Given the description of an element on the screen output the (x, y) to click on. 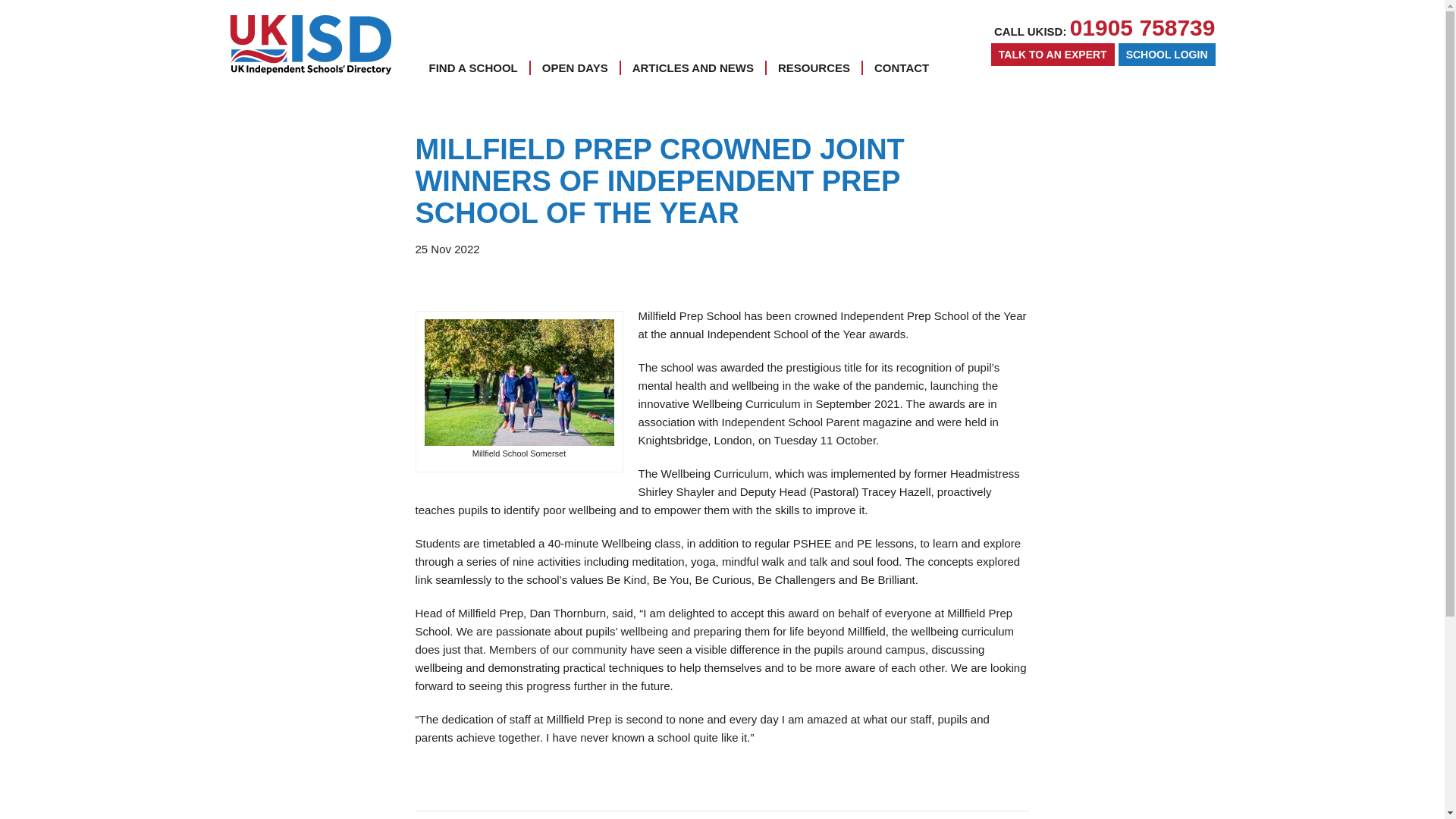
RESOURCES (813, 67)
CONTACT (901, 67)
01905 758739 (1142, 27)
ARTICLES AND NEWS (692, 67)
SCHOOL LOGIN (1166, 54)
TALK TO AN EXPERT (1053, 54)
FIND A SCHOOL (473, 67)
OPEN DAYS (574, 67)
